Given the description of an element on the screen output the (x, y) to click on. 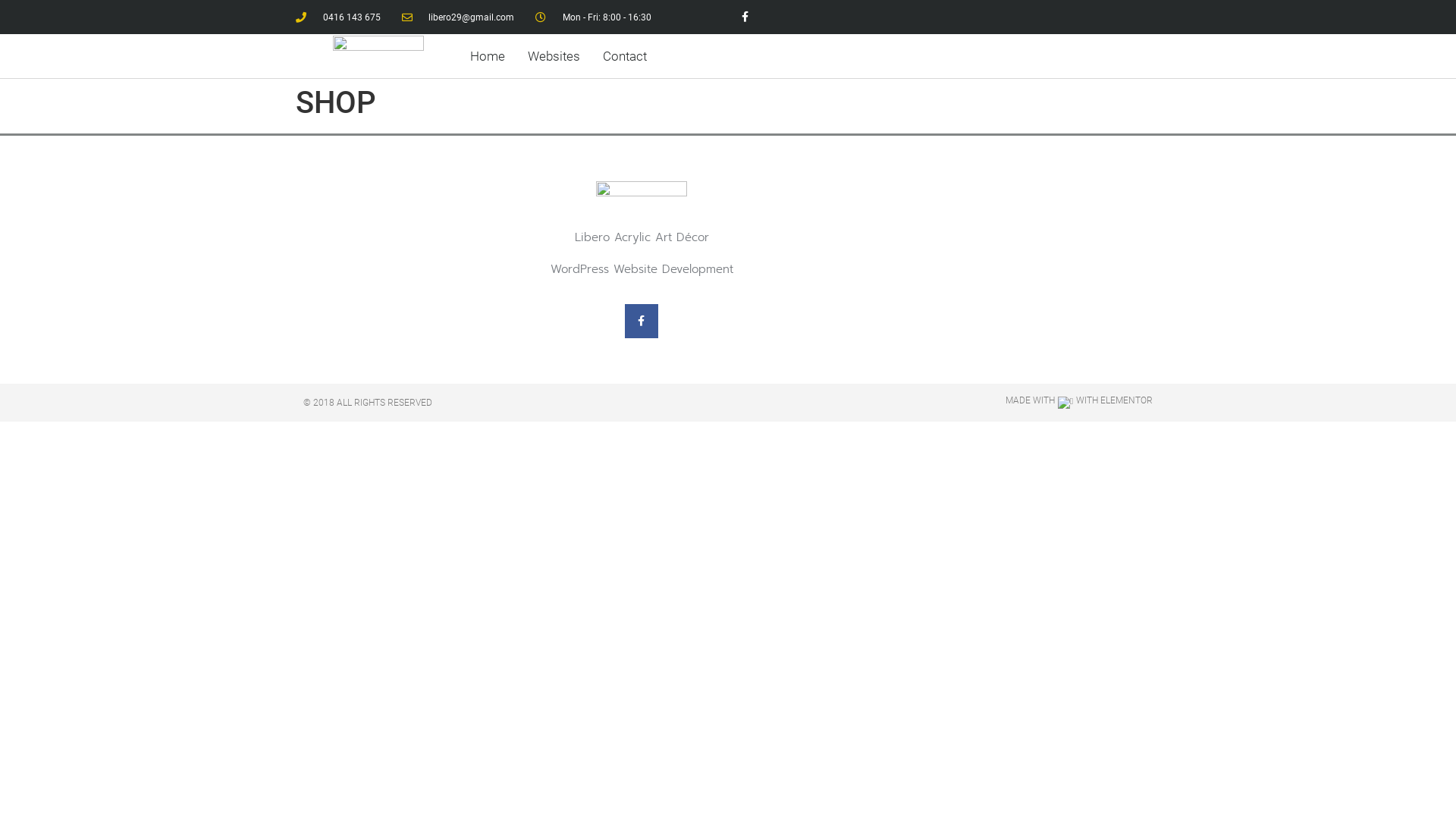
Home Element type: text (487, 55)
Contact Element type: text (624, 55)
Websites Element type: text (553, 55)
